Given the description of an element on the screen output the (x, y) to click on. 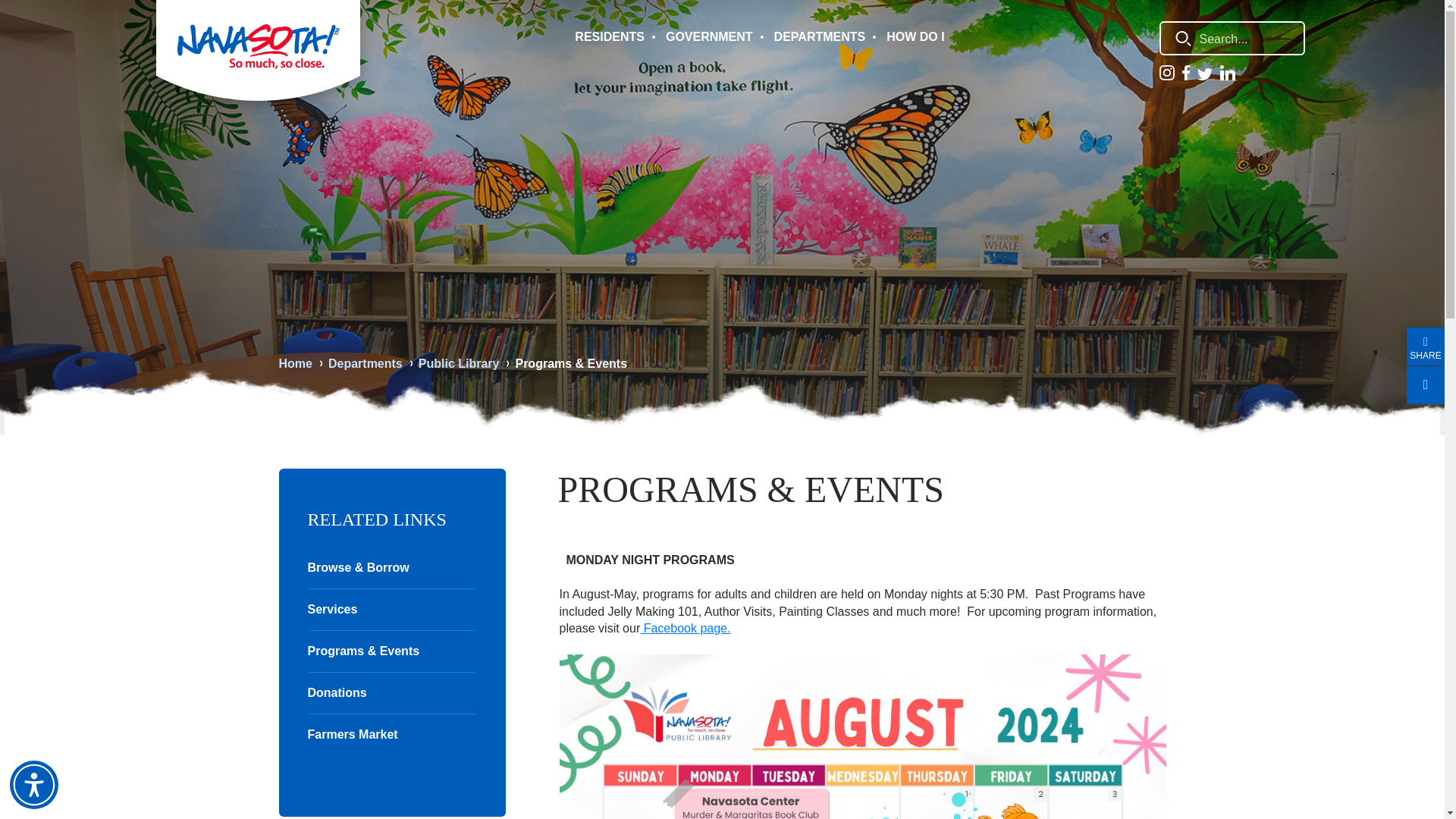
GOVERNMENT (708, 36)
Accessibility Menu (34, 784)
RESIDENTS (609, 36)
